Given the description of an element on the screen output the (x, y) to click on. 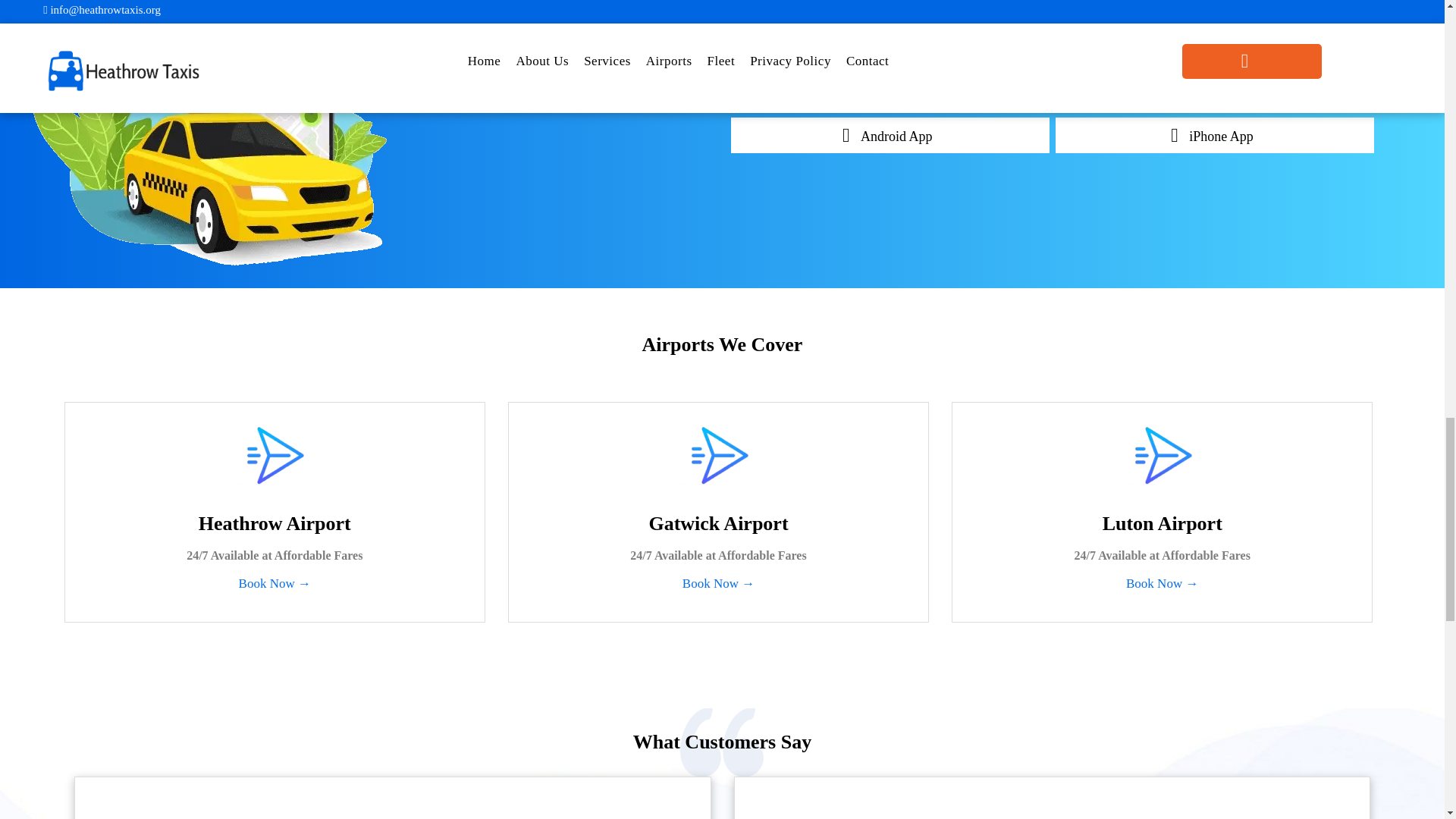
Android App (889, 135)
iPhone App (1214, 135)
